Given the description of an element on the screen output the (x, y) to click on. 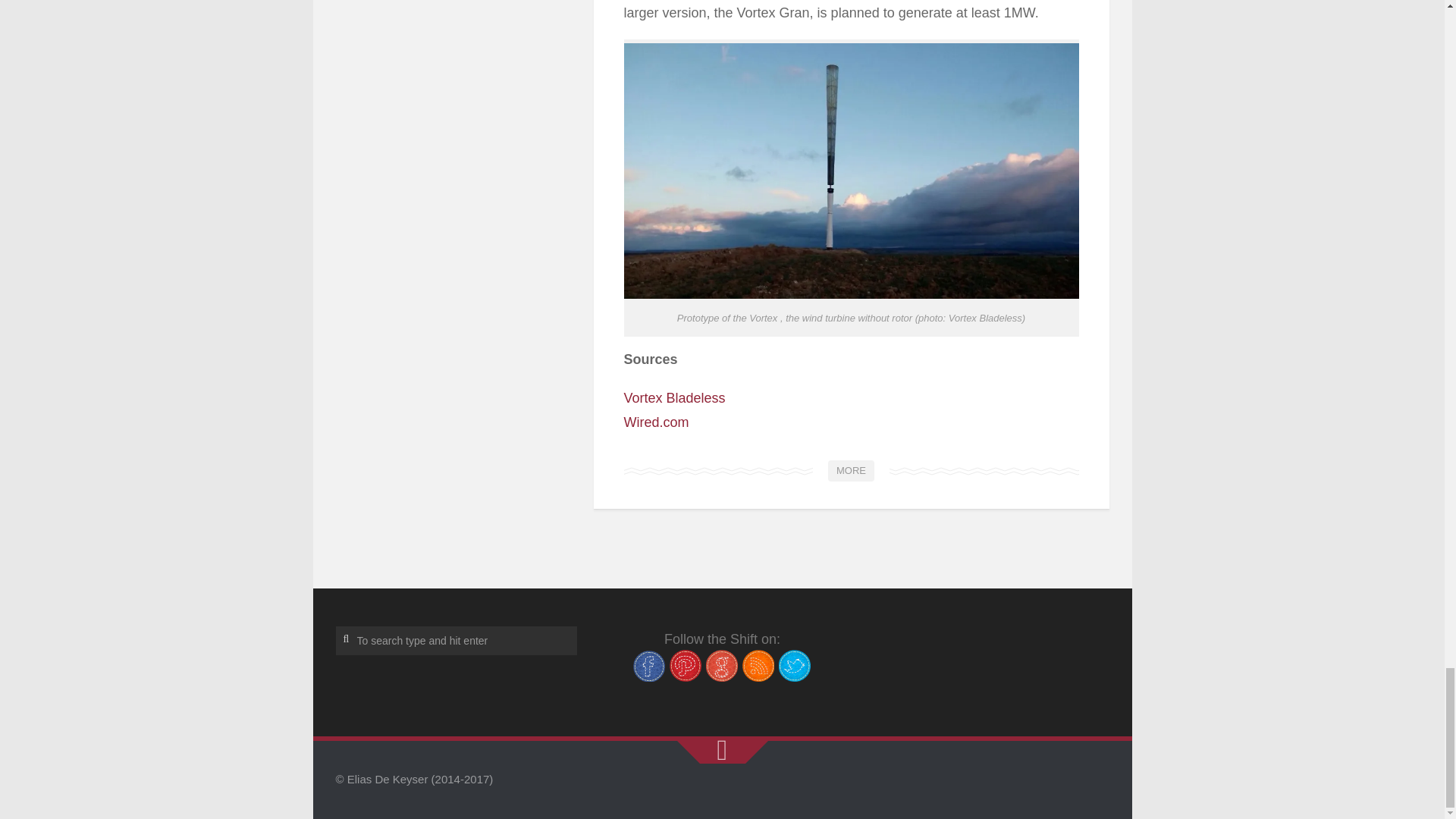
Photo of the week: Vortex, wind turbine without blades (850, 470)
To search type and hit enter (455, 640)
To search type and hit enter (455, 640)
